Given the description of an element on the screen output the (x, y) to click on. 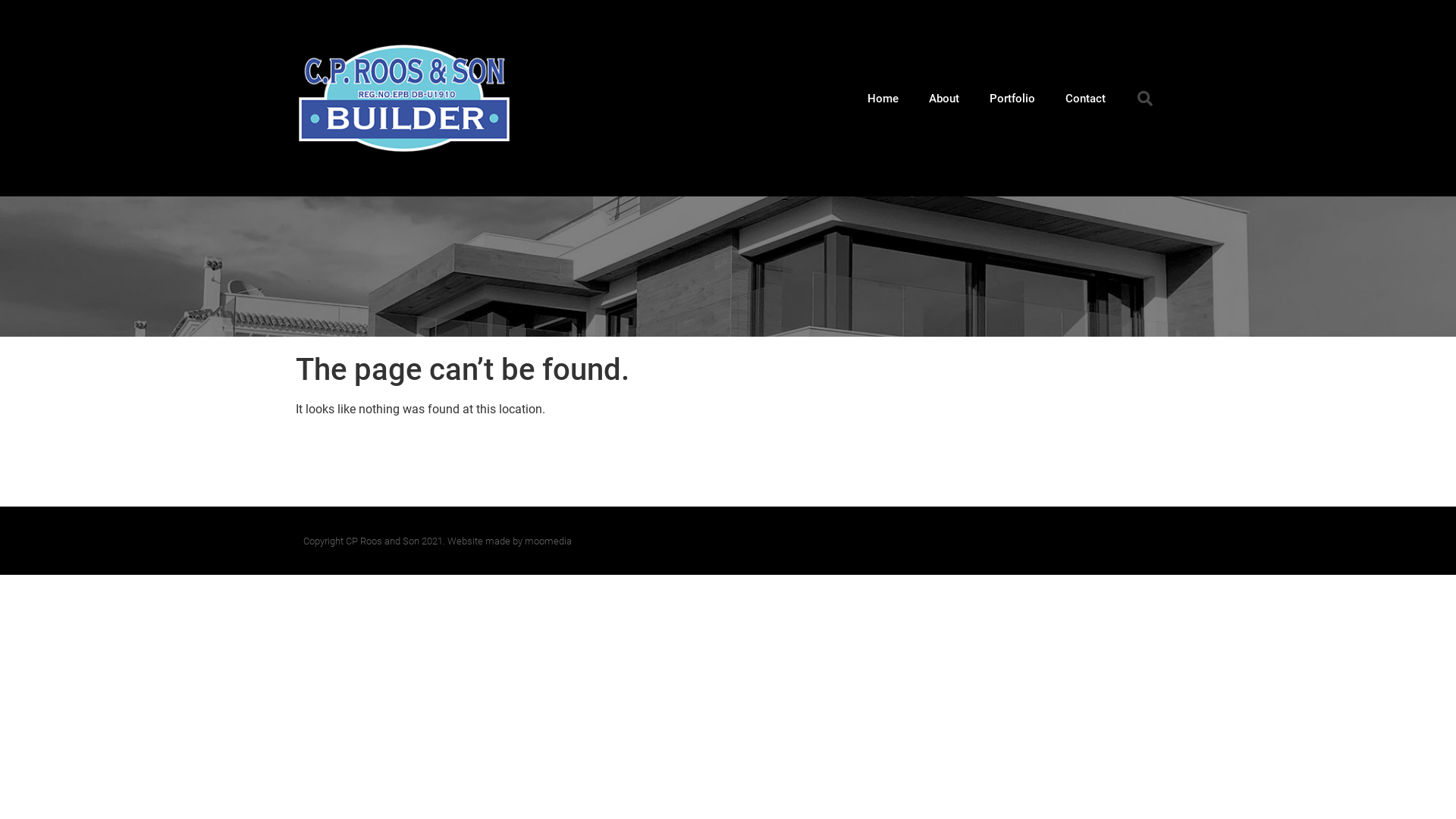
About Element type: text (943, 98)
moomedia Element type: text (547, 540)
Home Element type: text (882, 98)
Contact Element type: text (1085, 98)
Portfolio Element type: text (1012, 98)
